Given the description of an element on the screen output the (x, y) to click on. 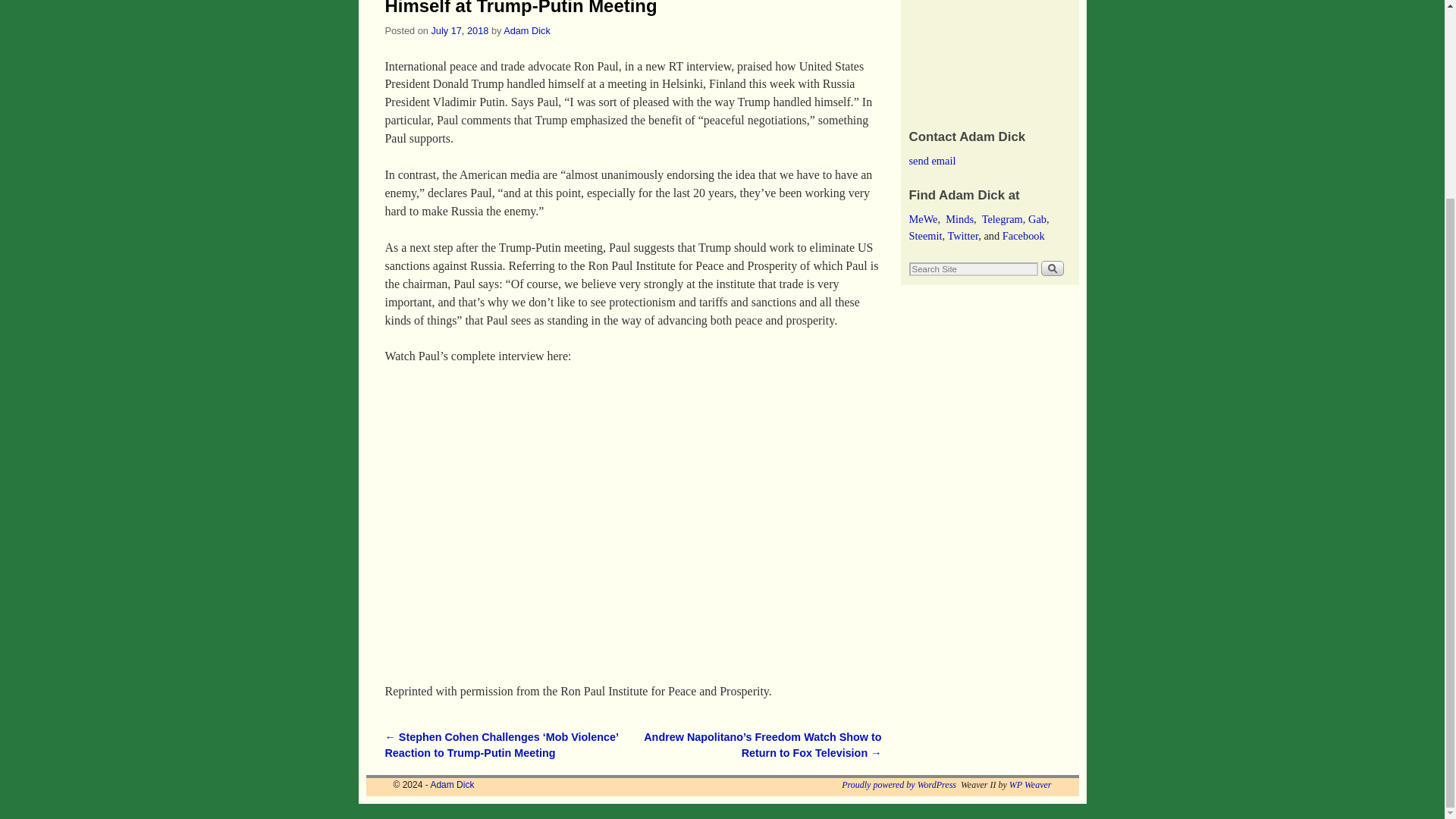
Telegram (1002, 218)
WP Weaver (1030, 784)
July 17, 2018 (458, 30)
MeWe (922, 218)
Proudly powered by WordPress (898, 784)
Minds (959, 218)
Adam Dick (451, 784)
Twitter (962, 235)
Adam Dick (526, 30)
Facebook (1024, 235)
Adam Dick (451, 784)
View all posts by Adam Dick (526, 30)
send email (931, 160)
Steemit (925, 235)
4:12 pm (458, 30)
